Given the description of an element on the screen output the (x, y) to click on. 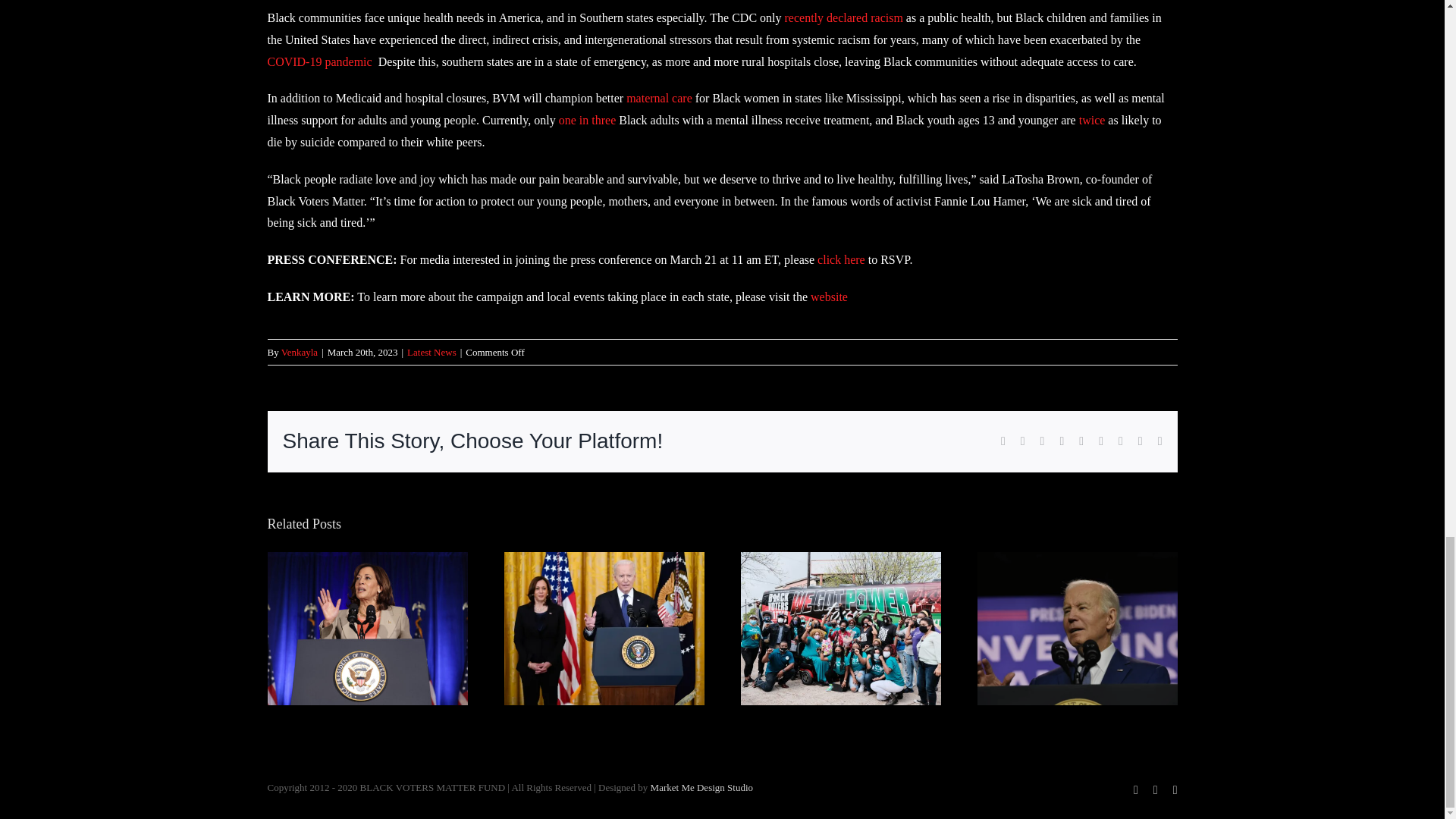
Posts by Venkayla (299, 351)
